Given the description of an element on the screen output the (x, y) to click on. 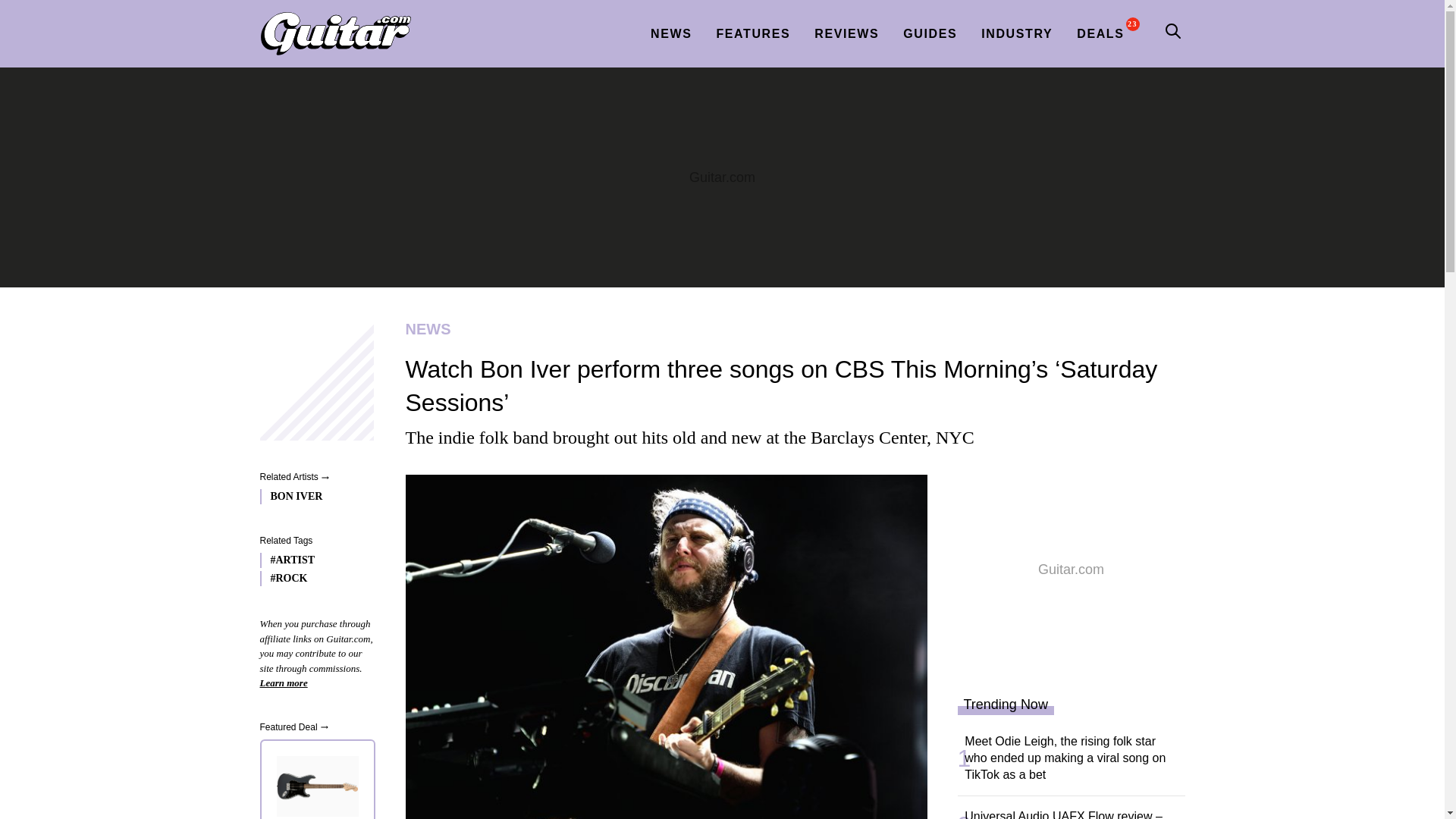
Artist (312, 560)
DEALS (1099, 33)
REVIEWS (846, 33)
Learn more (283, 682)
Bon Iver (312, 496)
Rock (312, 578)
NEWS (671, 33)
FEATURES (753, 33)
GUIDES (929, 33)
News (789, 328)
BON IVER (312, 496)
NEWS (789, 328)
INDUSTRY (1016, 33)
